Given the description of an element on the screen output the (x, y) to click on. 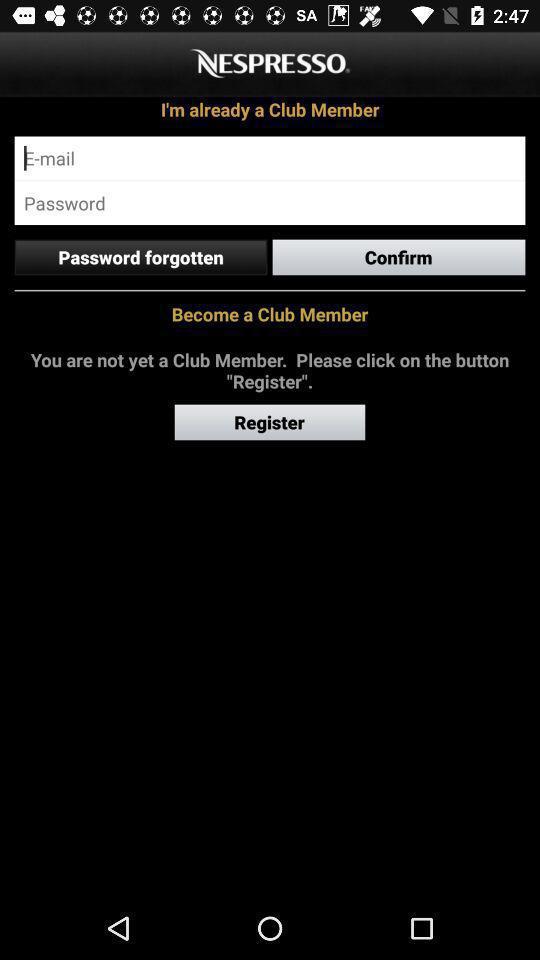
enter login email (269, 158)
